Given the description of an element on the screen output the (x, y) to click on. 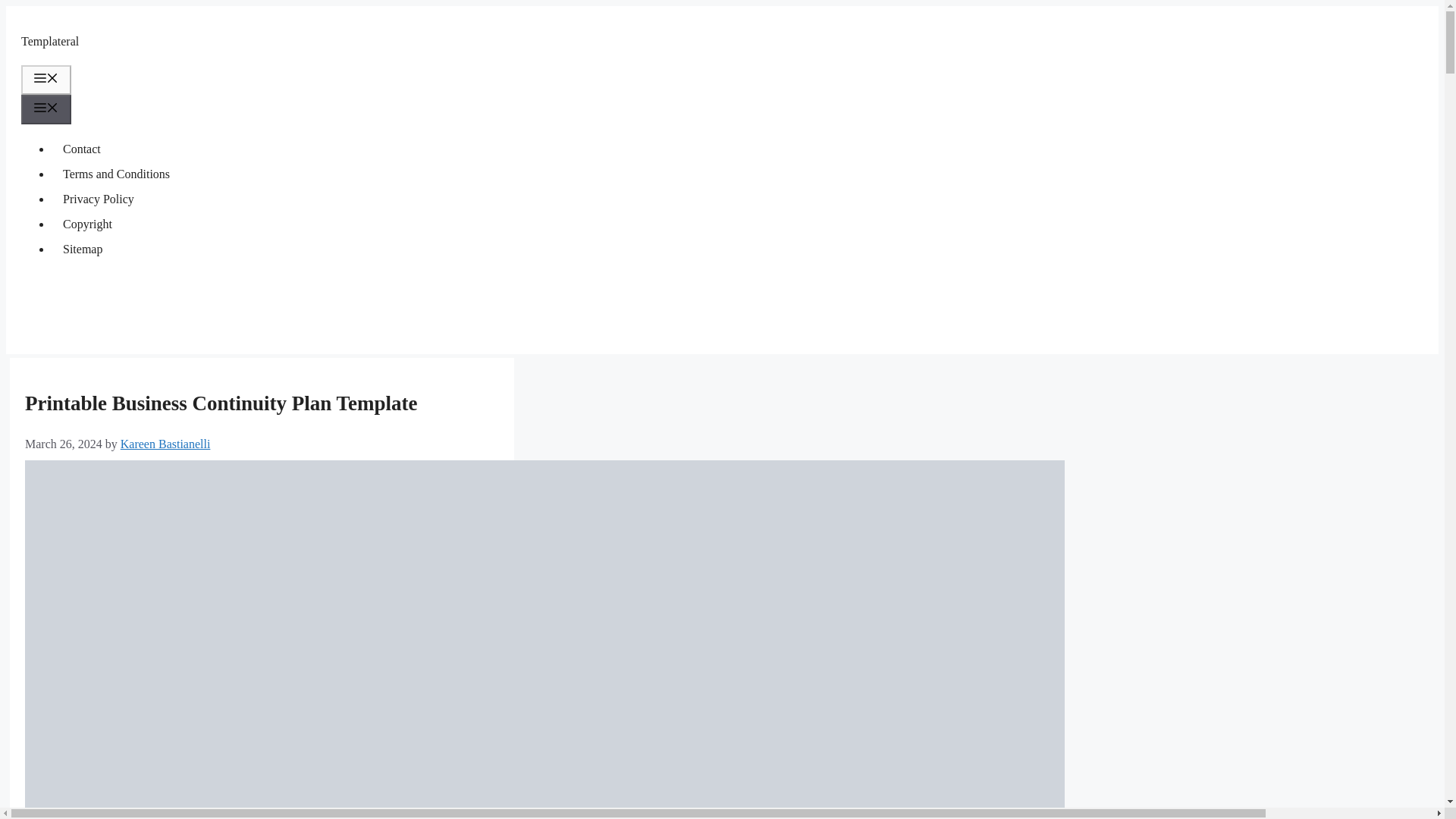
Templateral (49, 41)
Contact (81, 148)
Copyright (86, 223)
Sitemap (81, 248)
Menu (46, 109)
Menu (46, 80)
View all posts by Kareen Bastianelli (165, 443)
Privacy Policy (97, 198)
